Given the description of an element on the screen output the (x, y) to click on. 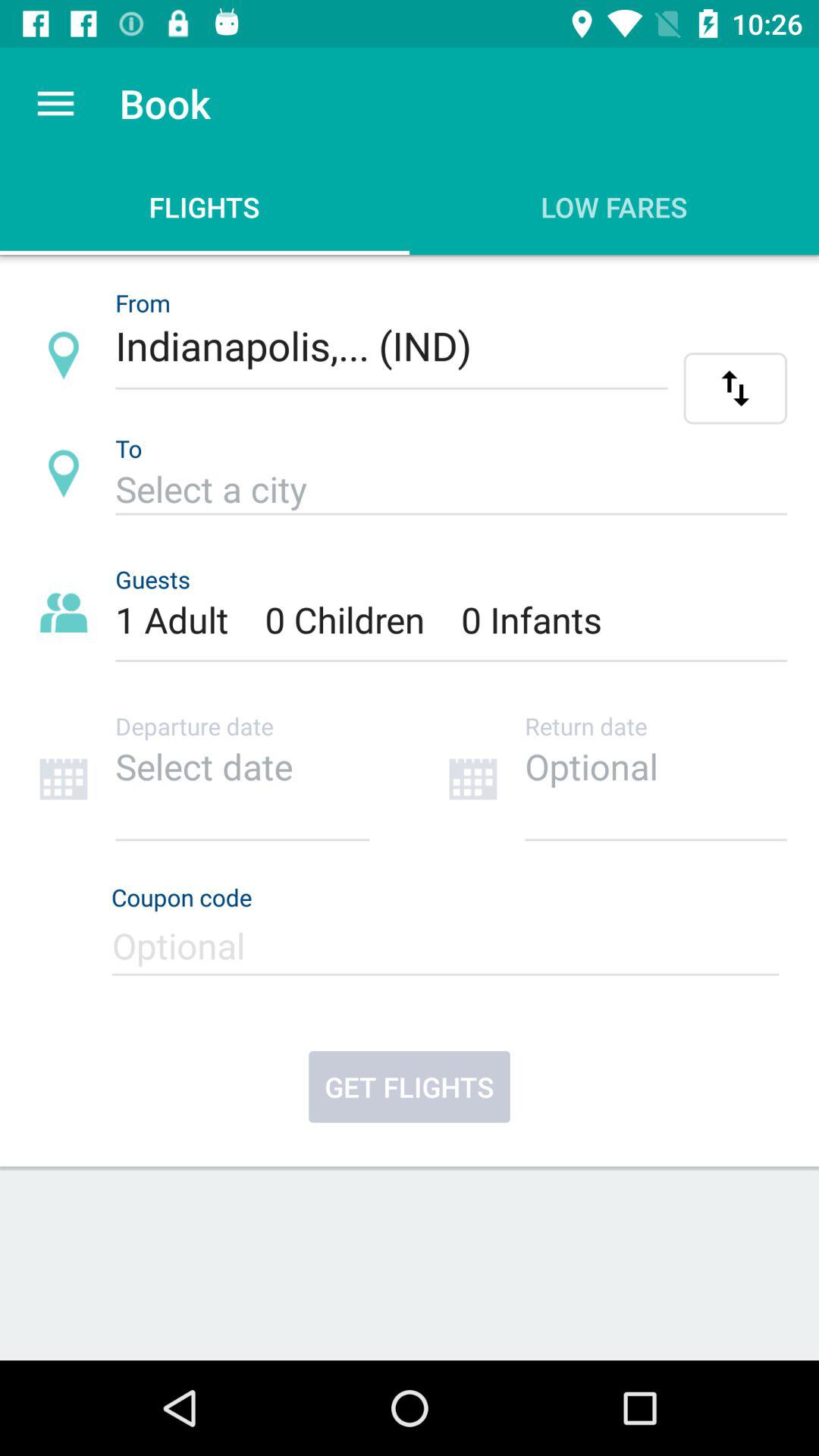
choose the item next to indianapolis,... (ind) item (735, 388)
